Given the description of an element on the screen output the (x, y) to click on. 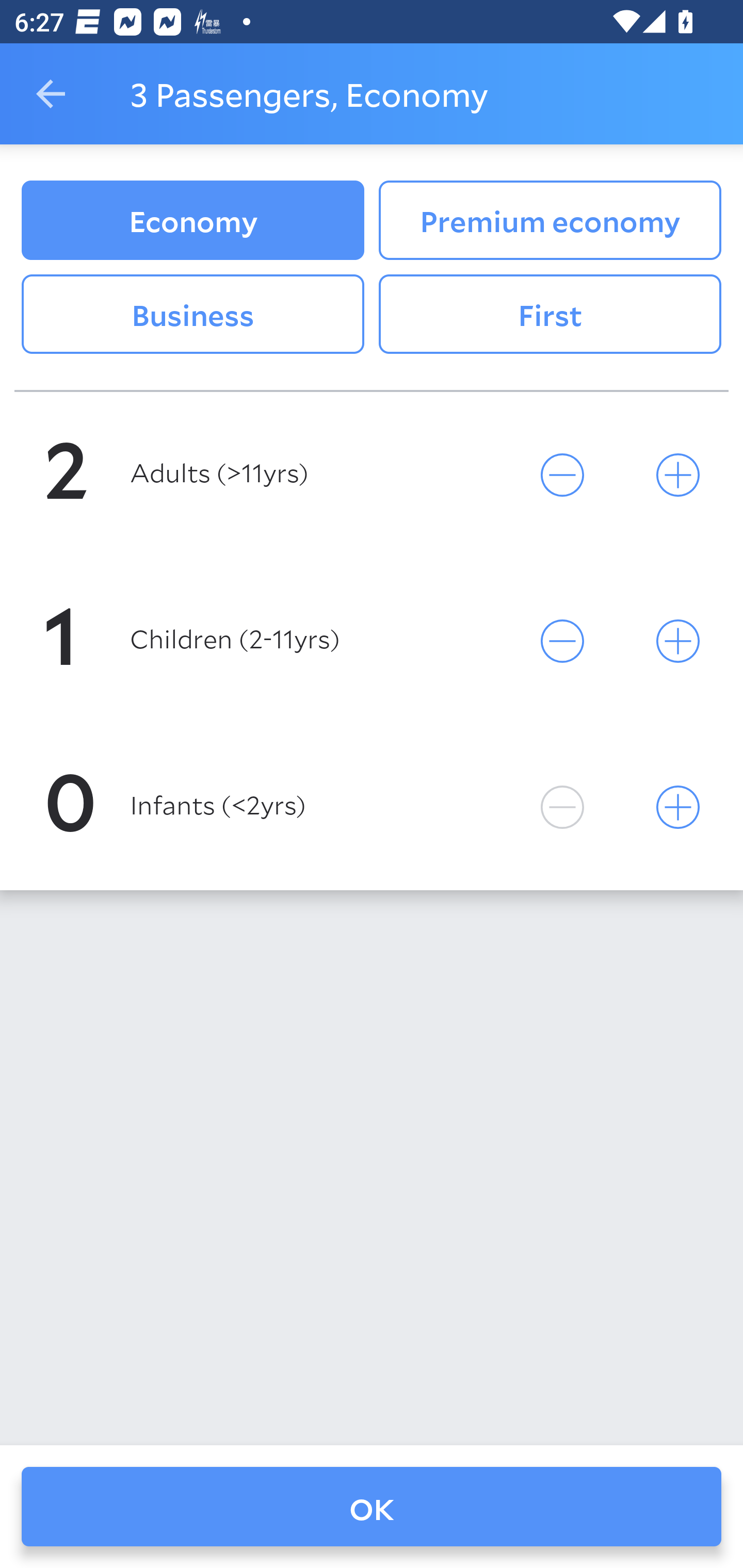
Navigate up (50, 93)
Economy (192, 220)
Premium economy (549, 220)
Business (192, 314)
First (549, 314)
OK (371, 1506)
